Given the description of an element on the screen output the (x, y) to click on. 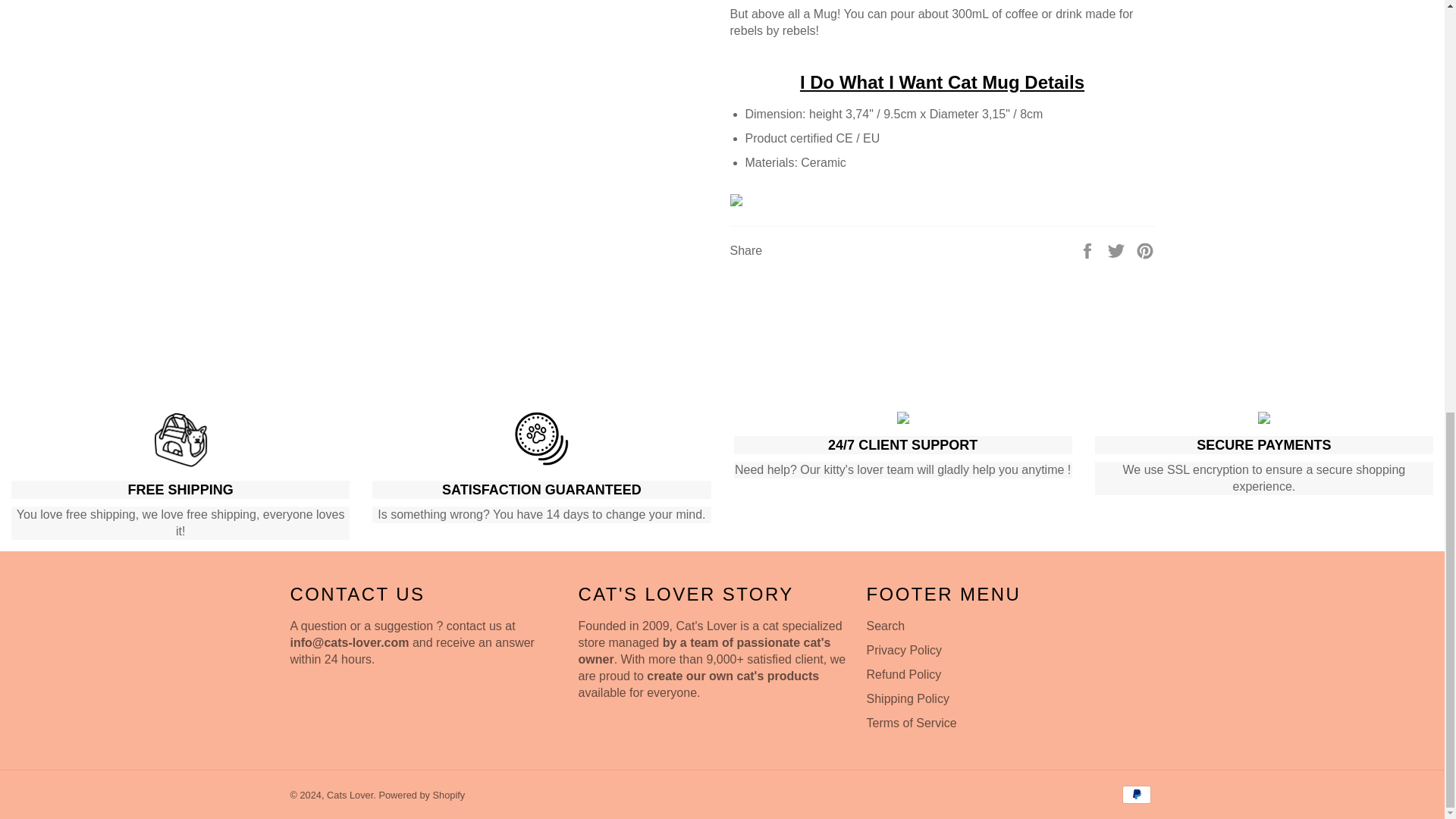
Share on Facebook (1088, 249)
Pin on Pinterest (1144, 249)
Tweet on Twitter (1117, 249)
